Given the description of an element on the screen output the (x, y) to click on. 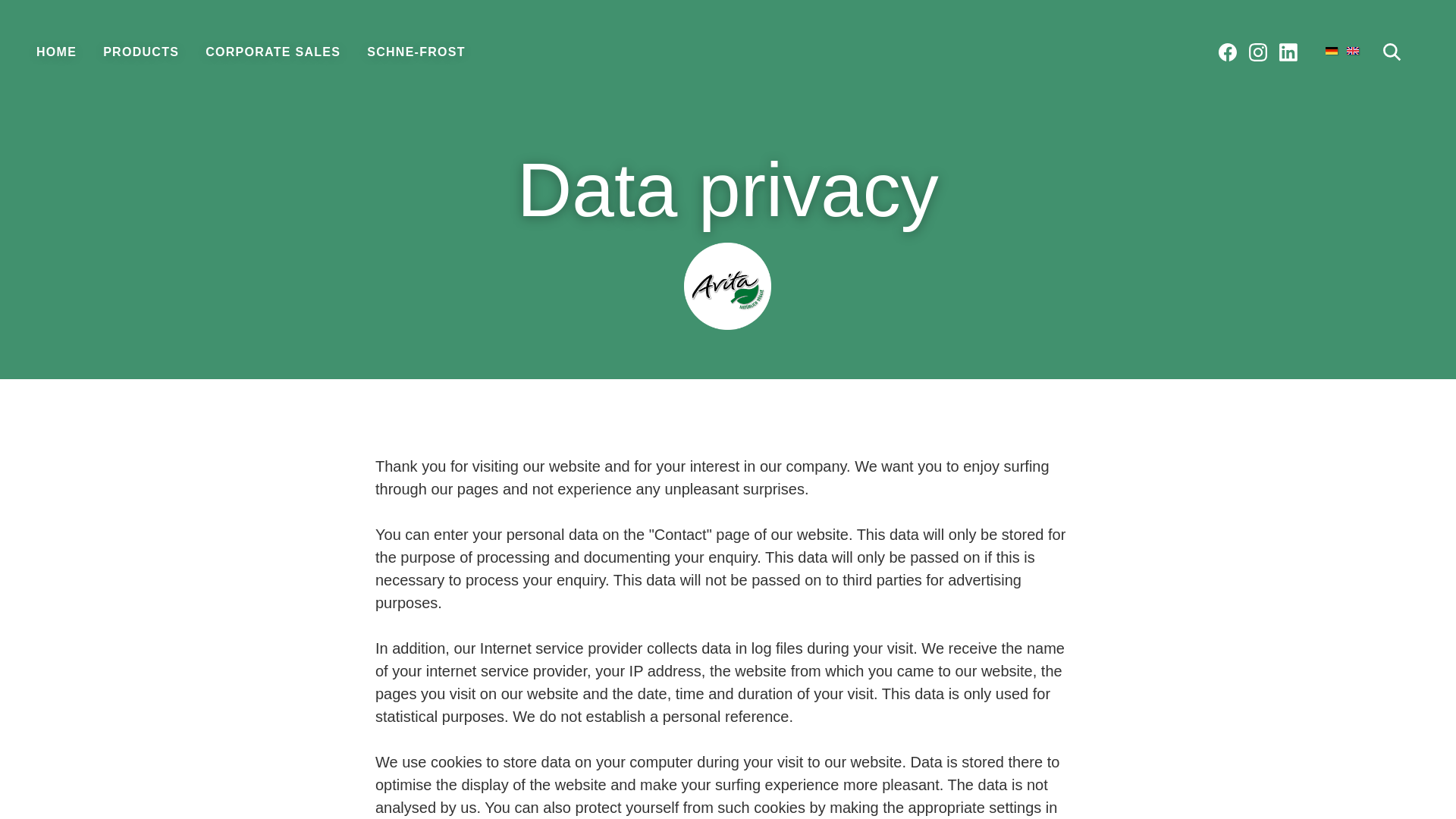
Schne-Frost on Instagram (1257, 52)
Schne-Frost on Facebook (1227, 52)
CORPORATE SALES (272, 53)
PRODUCTS (141, 53)
SCHNE-FROST (415, 53)
Schne-Frost on LinkedIn (1287, 52)
HOME (56, 53)
